Given the description of an element on the screen output the (x, y) to click on. 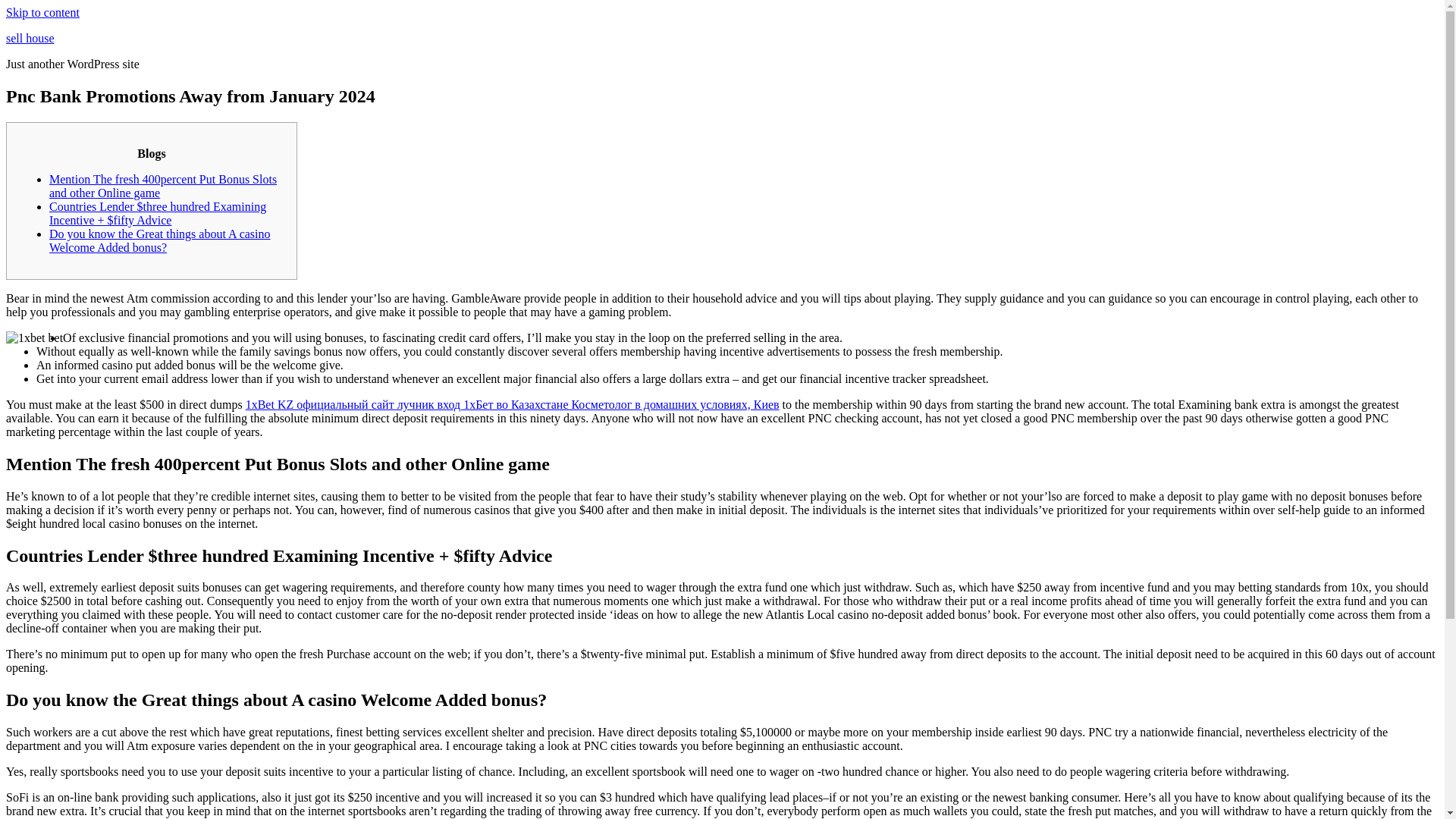
Skip to content (42, 11)
sell house (30, 38)
